Given the description of an element on the screen output the (x, y) to click on. 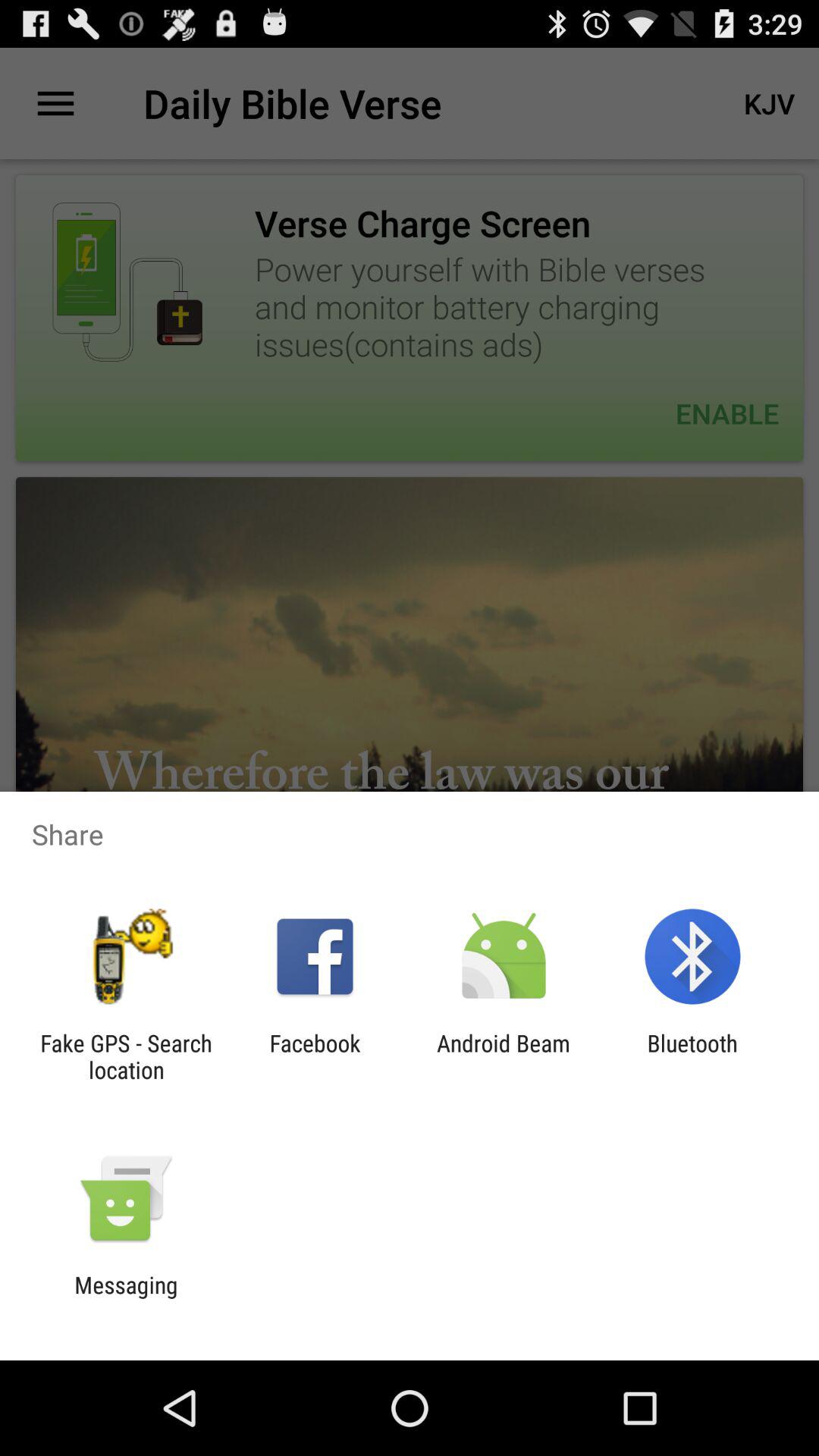
tap the icon next to the android beam app (314, 1056)
